Given the description of an element on the screen output the (x, y) to click on. 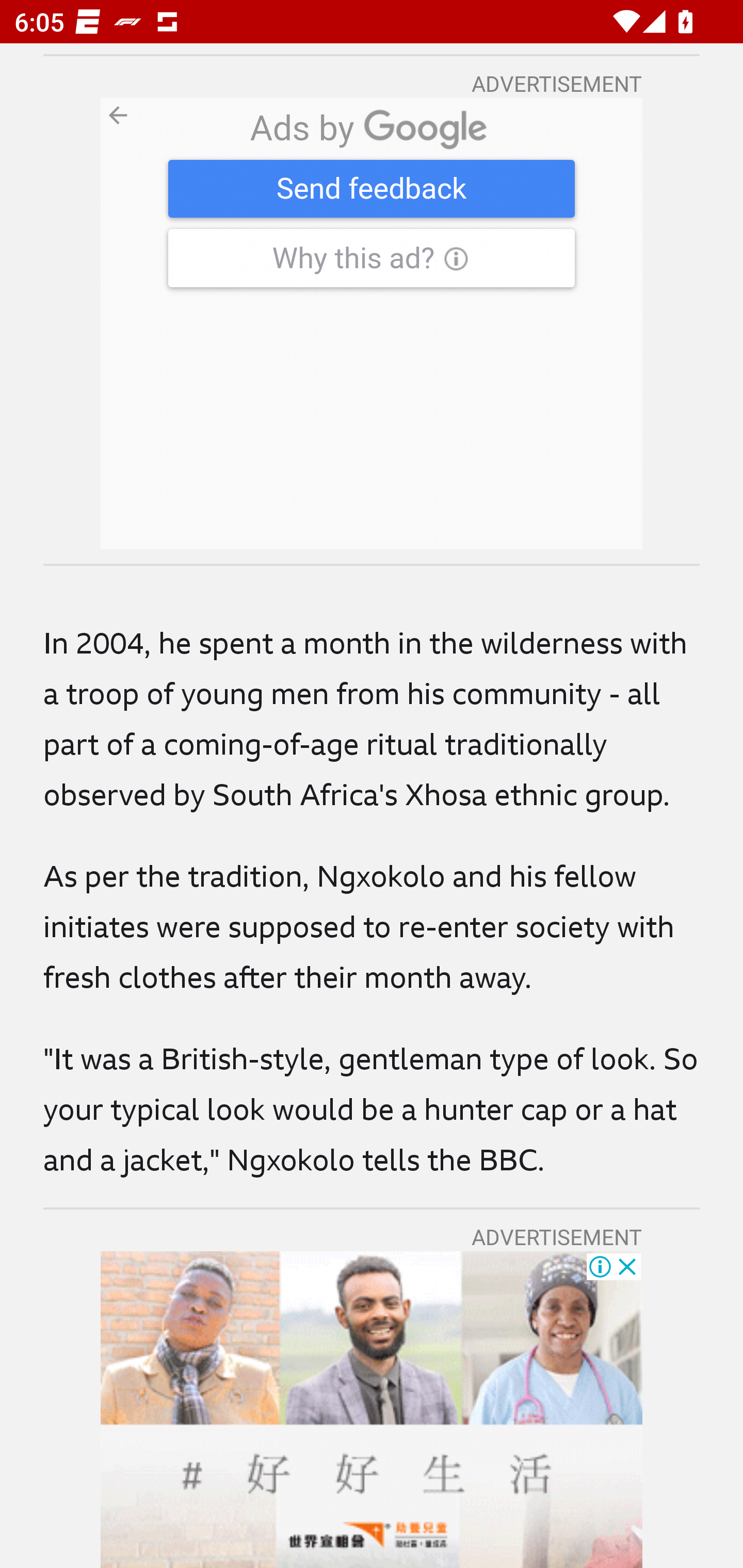
Advertisement (371, 323)
Advertisement (371, 1409)
